Given the description of an element on the screen output the (x, y) to click on. 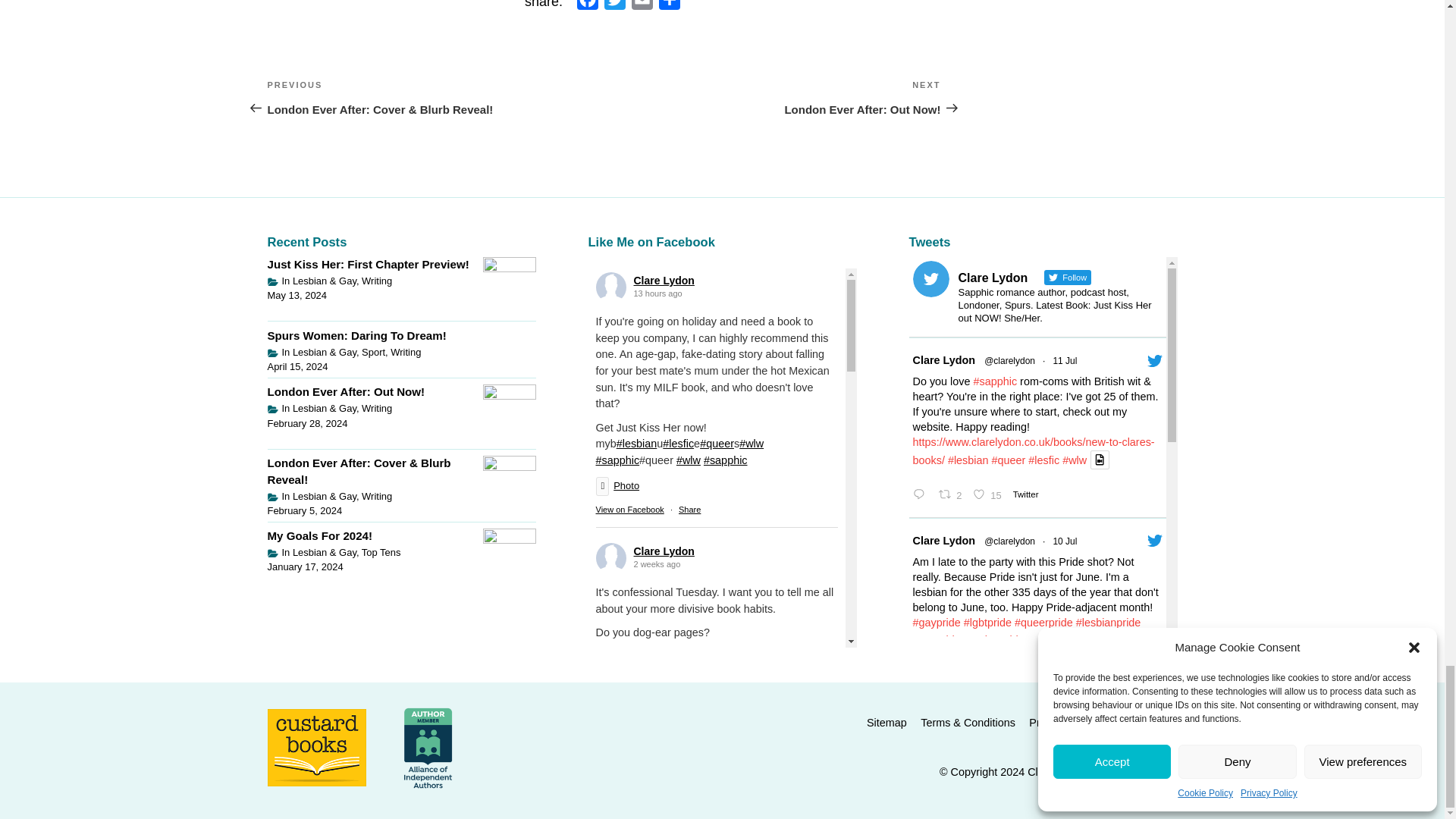
Share (689, 509)
Facebook (587, 8)
Twitter (614, 8)
Email (642, 8)
View on Facebook (629, 509)
